Given the description of an element on the screen output the (x, y) to click on. 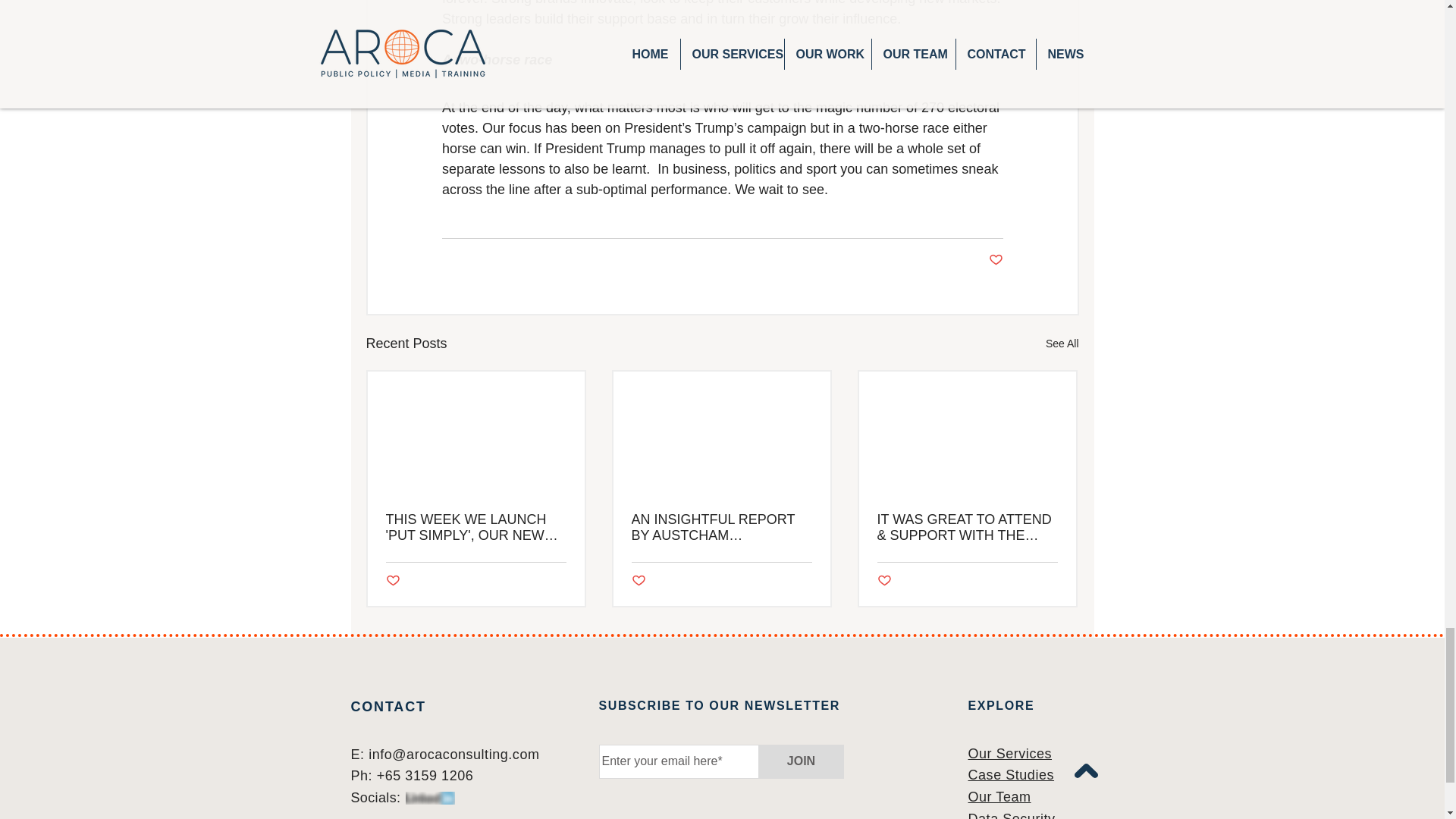
Post not marked as liked (883, 580)
Data Security (1011, 815)
Our Team (999, 796)
Case Studies (1011, 774)
See All (1061, 343)
Post not marked as liked (637, 580)
Post not marked as liked (391, 580)
AN INSIGHTFUL REPORT BY AUSTCHAM SINGAPORE (720, 527)
Post not marked as liked (995, 260)
